Given the description of an element on the screen output the (x, y) to click on. 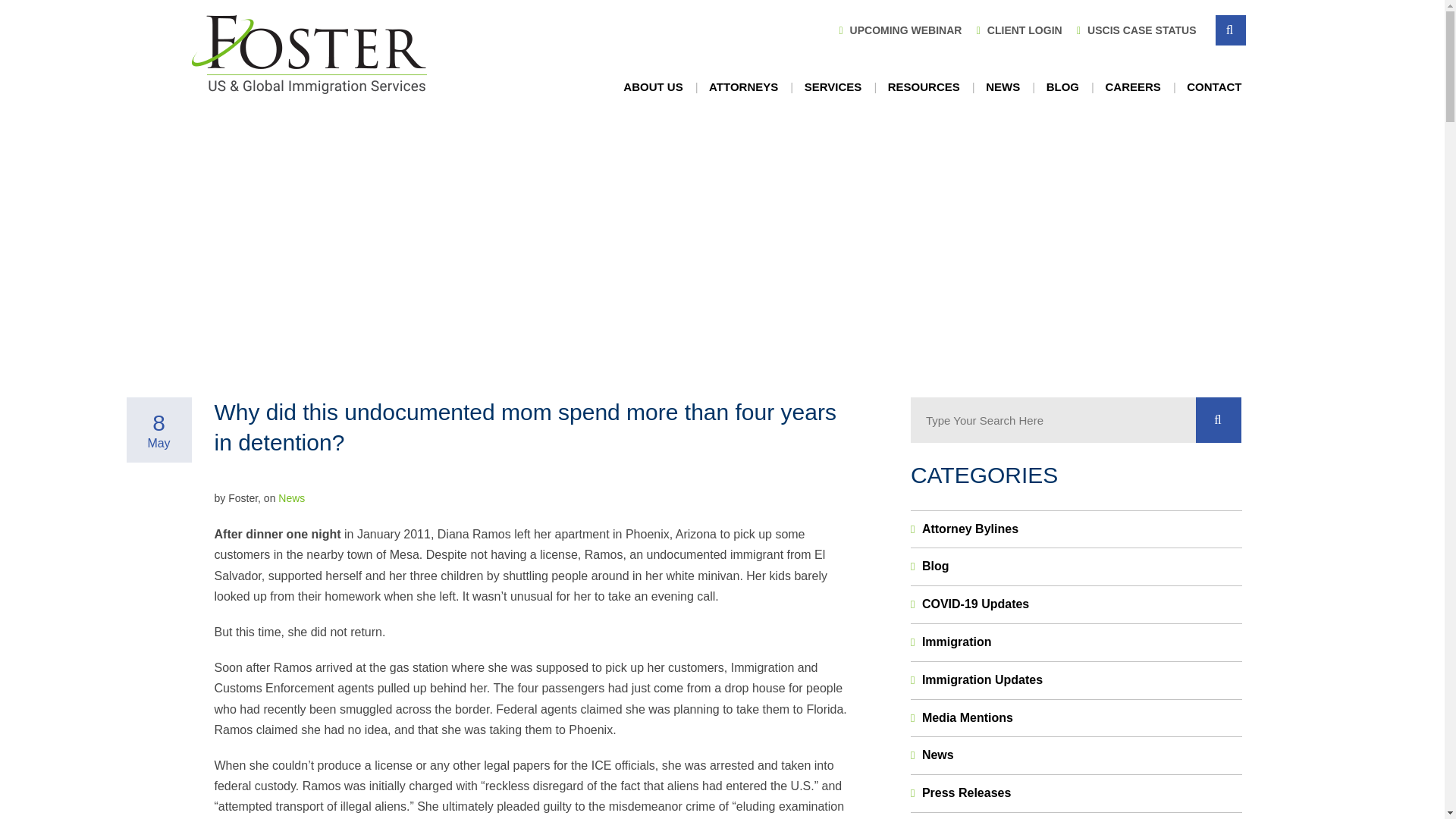
CONTACT (1214, 87)
CAREERS (1131, 87)
USCIS CASE STATUS (1134, 30)
ATTORNEYS (743, 87)
RESOURCES (923, 87)
NEWS (1003, 87)
UPCOMING WEBINAR (898, 30)
News (291, 498)
BLOG (1062, 87)
SEARCH (1229, 30)
